Given the description of an element on the screen output the (x, y) to click on. 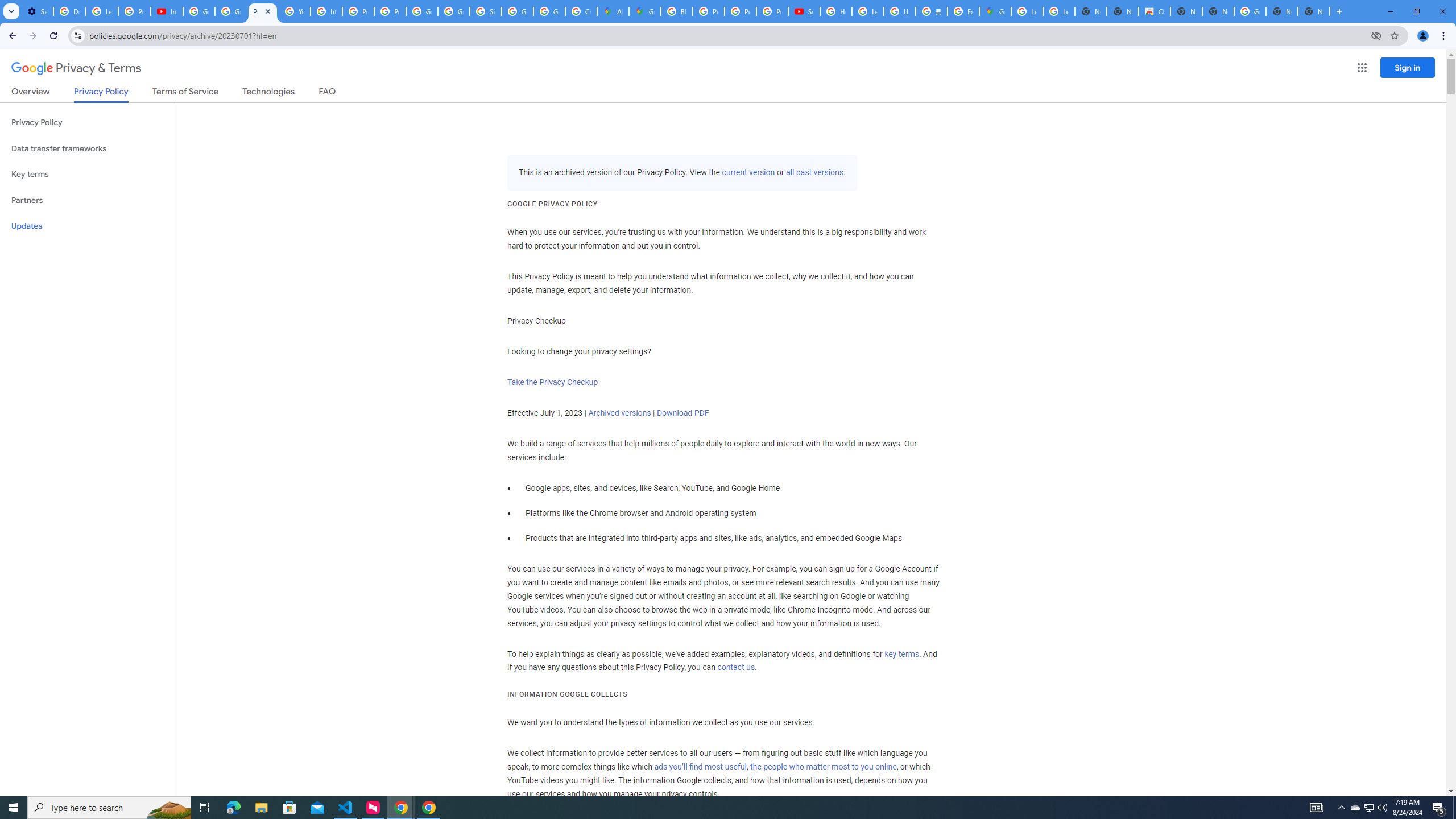
How Chrome protects your passwords - Google Chrome Help (836, 11)
Google Maps (995, 11)
contact us (735, 667)
